Given the description of an element on the screen output the (x, y) to click on. 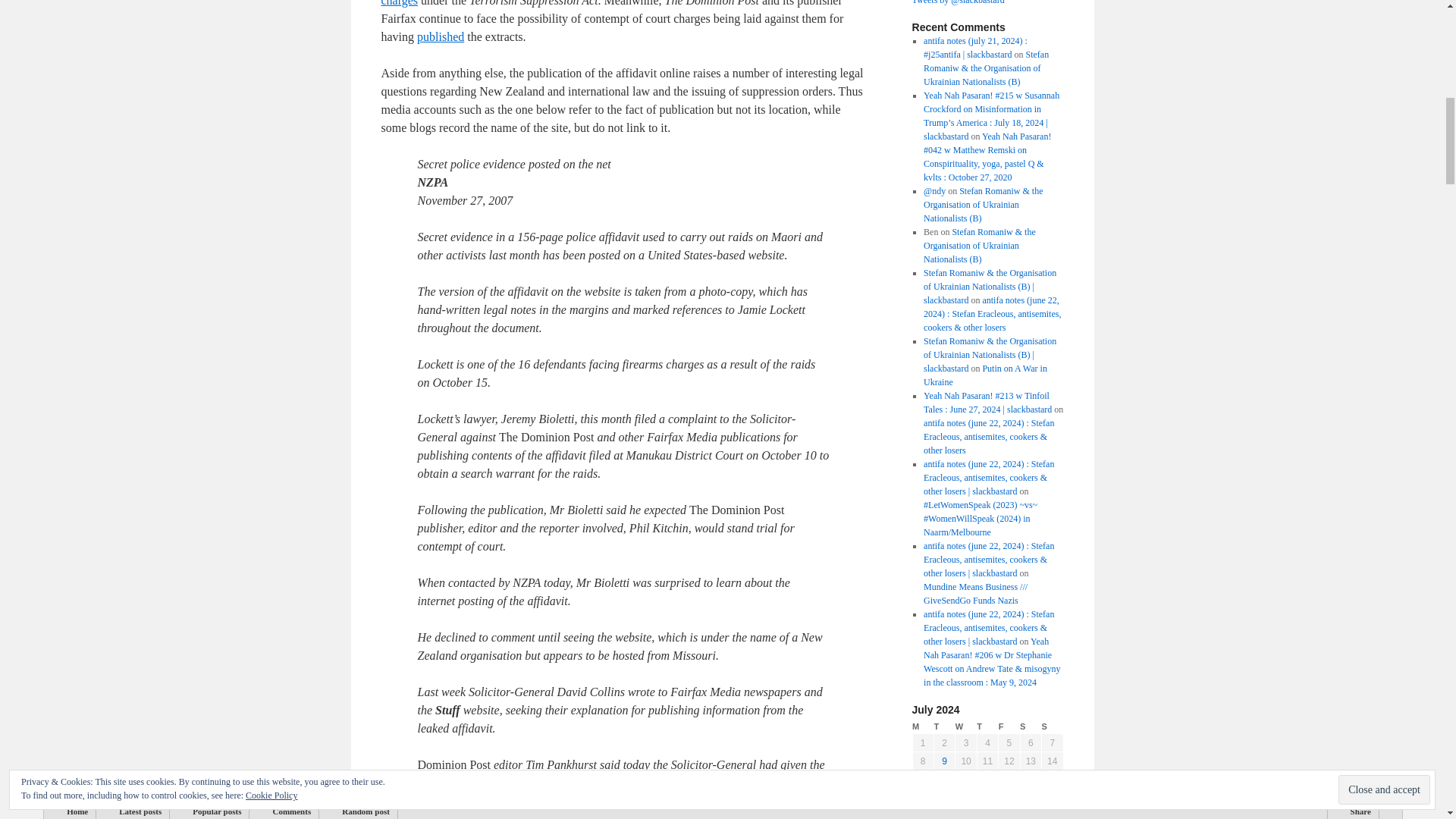
published (440, 36)
not to proceed with charges (607, 3)
Tuesday (944, 726)
Thursday (986, 726)
Saturday (1030, 726)
Friday (1009, 726)
Monday (922, 726)
Wednesday (965, 726)
